Given the description of an element on the screen output the (x, y) to click on. 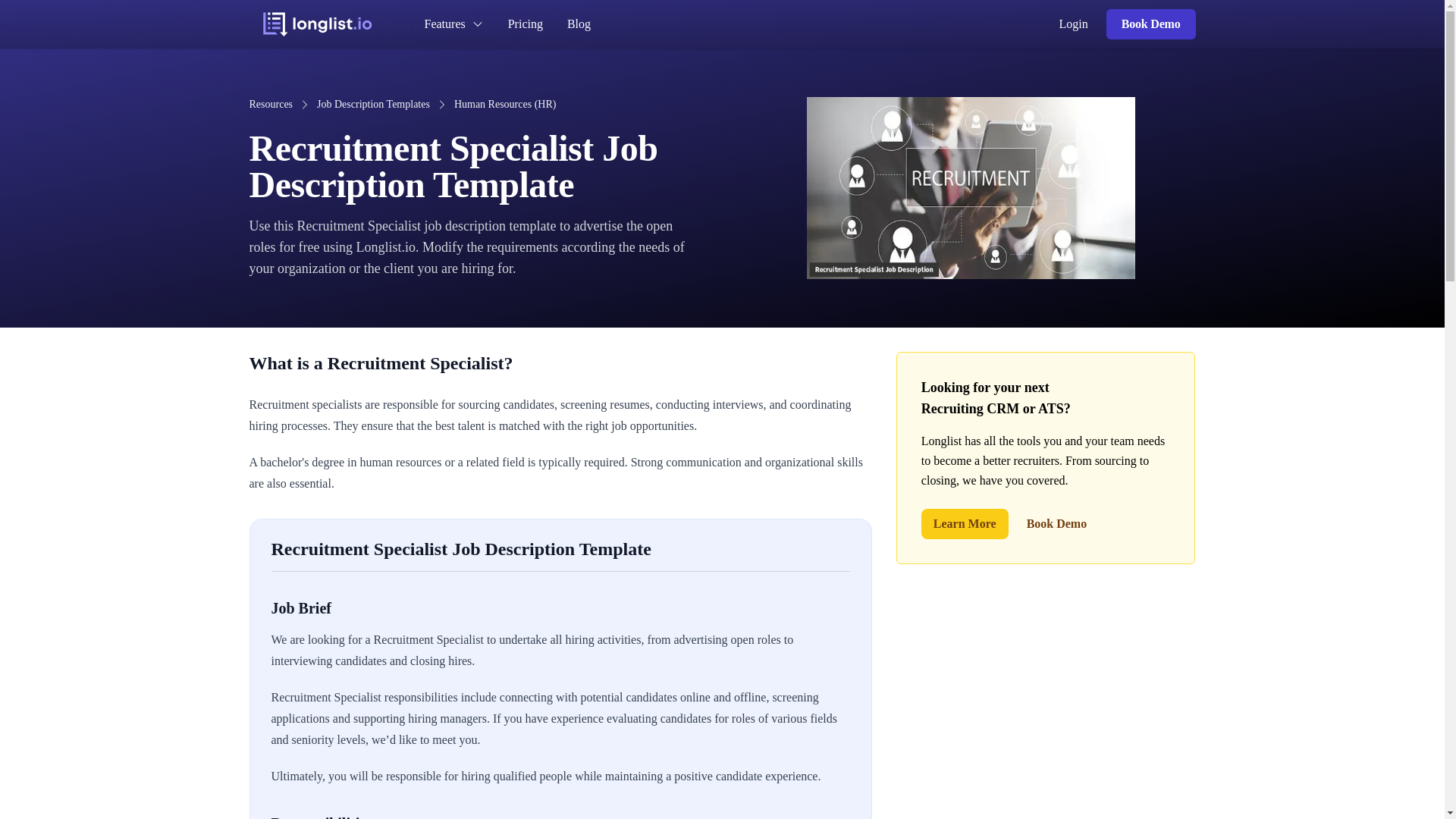
Features (454, 24)
Job Description Templates (373, 104)
Pricing (525, 24)
Book Demo (1150, 24)
Book Demo (1056, 523)
Resources (270, 104)
Login (1073, 24)
Learn More (965, 523)
Blog (578, 24)
